Given the description of an element on the screen output the (x, y) to click on. 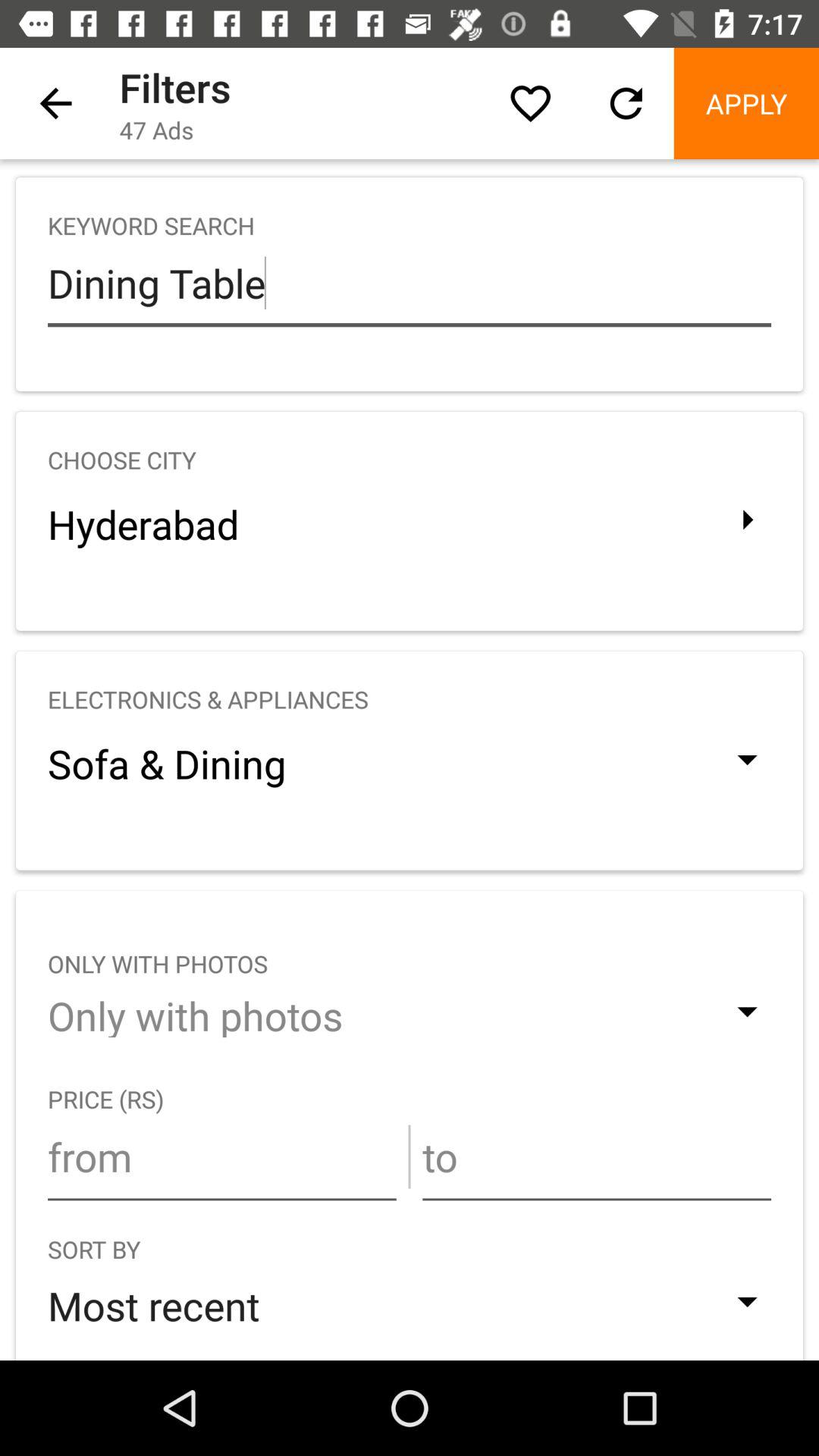
click app next to filters icon (530, 103)
